Given the description of an element on the screen output the (x, y) to click on. 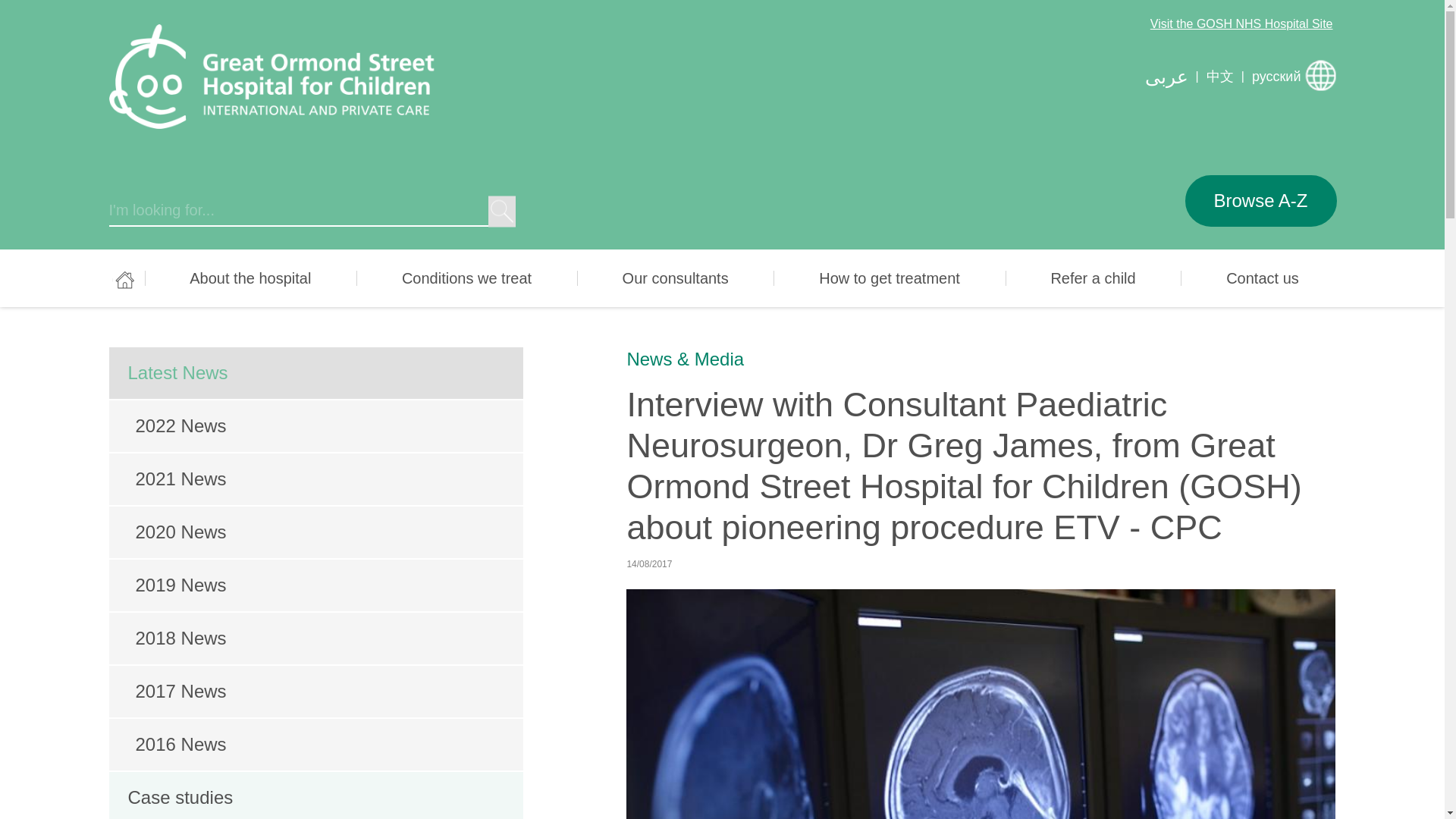
Visit the GOSH NHS Hospital Site (1241, 23)
Contact us (1261, 278)
2020 News (316, 531)
Contact us (1261, 278)
2019 News (316, 584)
2016 News (316, 744)
Listing of the latest news (316, 372)
2017 News (316, 691)
2018 News (316, 638)
About the hospital (250, 278)
